Given the description of an element on the screen output the (x, y) to click on. 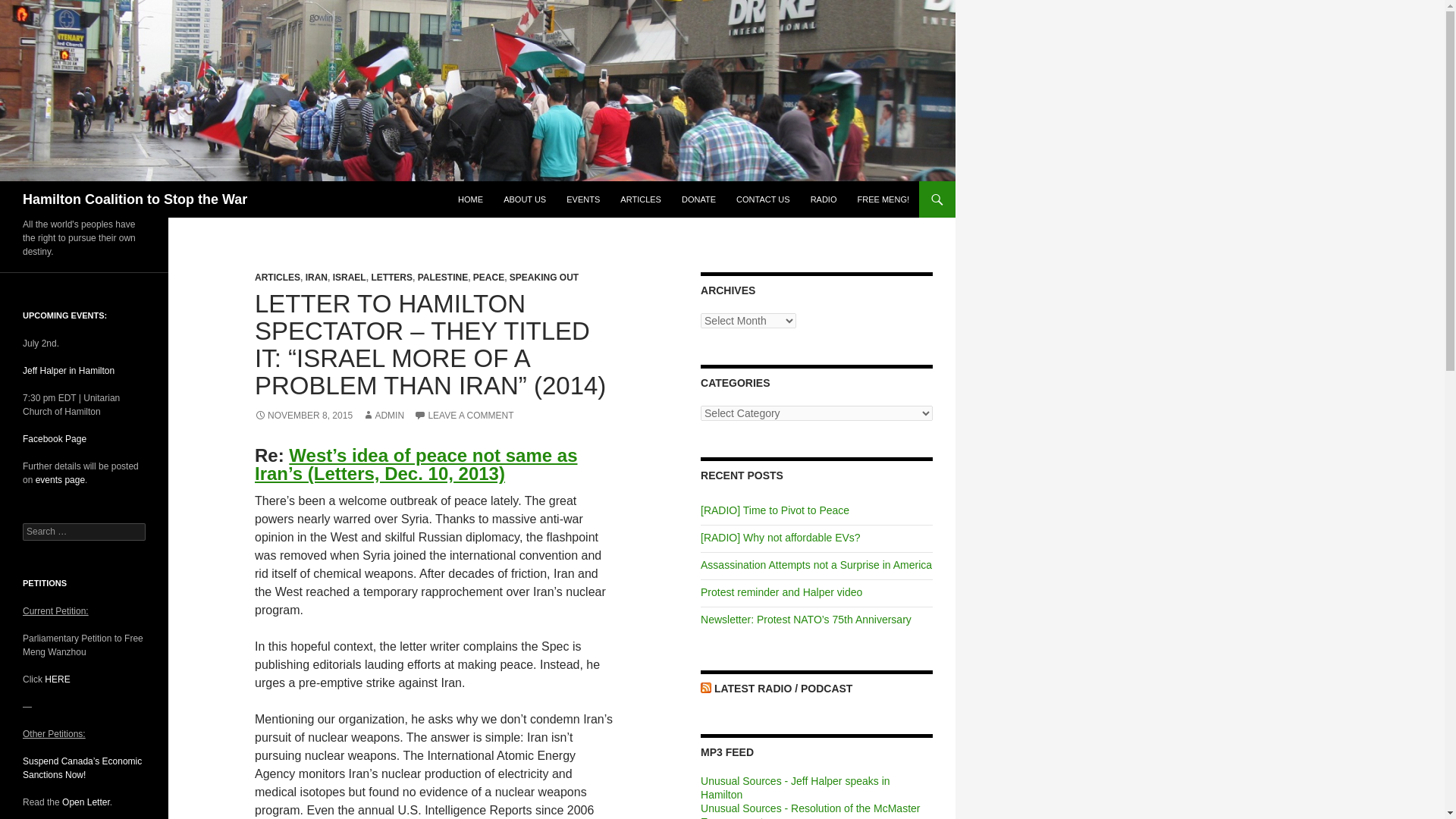
Hamilton Coalition to Stop the War (135, 198)
LEAVE A COMMENT (463, 415)
ISRAEL (349, 276)
Protest reminder and Halper video (780, 592)
DONATE (698, 198)
ABOUT US (524, 198)
CONTACT US (762, 198)
ADMIN (383, 415)
ARTICLES (640, 198)
LETTERS (391, 276)
RADIO (823, 198)
FREE MENG! (883, 198)
ARTICLES (276, 276)
